Given the description of an element on the screen output the (x, y) to click on. 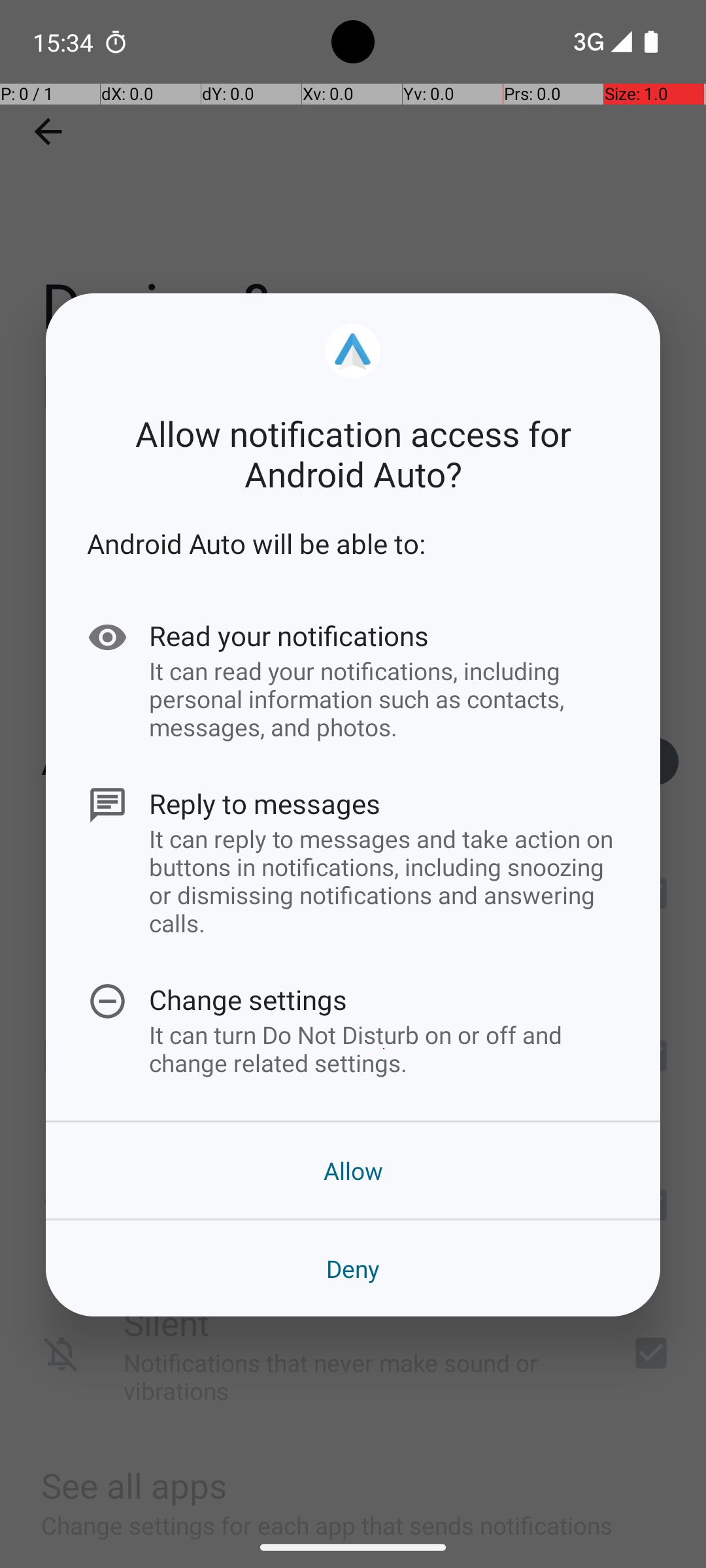
Allow notification access for Android Auto? Element type: android.widget.TextView (352, 453)
Android Auto will be able to: Element type: android.widget.TextView (352, 542)
Read your notifications Element type: android.widget.TextView (384, 634)
It can read your notifications, including personal information such as contacts, messages, and photos. Element type: android.widget.TextView (384, 698)
Reply to messages Element type: android.widget.TextView (384, 802)
It can reply to messages and take action on buttons in notifications, including snoozing or dismissing notifications and answering calls. Element type: android.widget.TextView (384, 880)
Change settings Element type: android.widget.TextView (384, 998)
It can turn Do Not Disturb on or off and change related settings. Element type: android.widget.TextView (384, 1048)
Deny Element type: android.widget.Button (352, 1268)
